Given the description of an element on the screen output the (x, y) to click on. 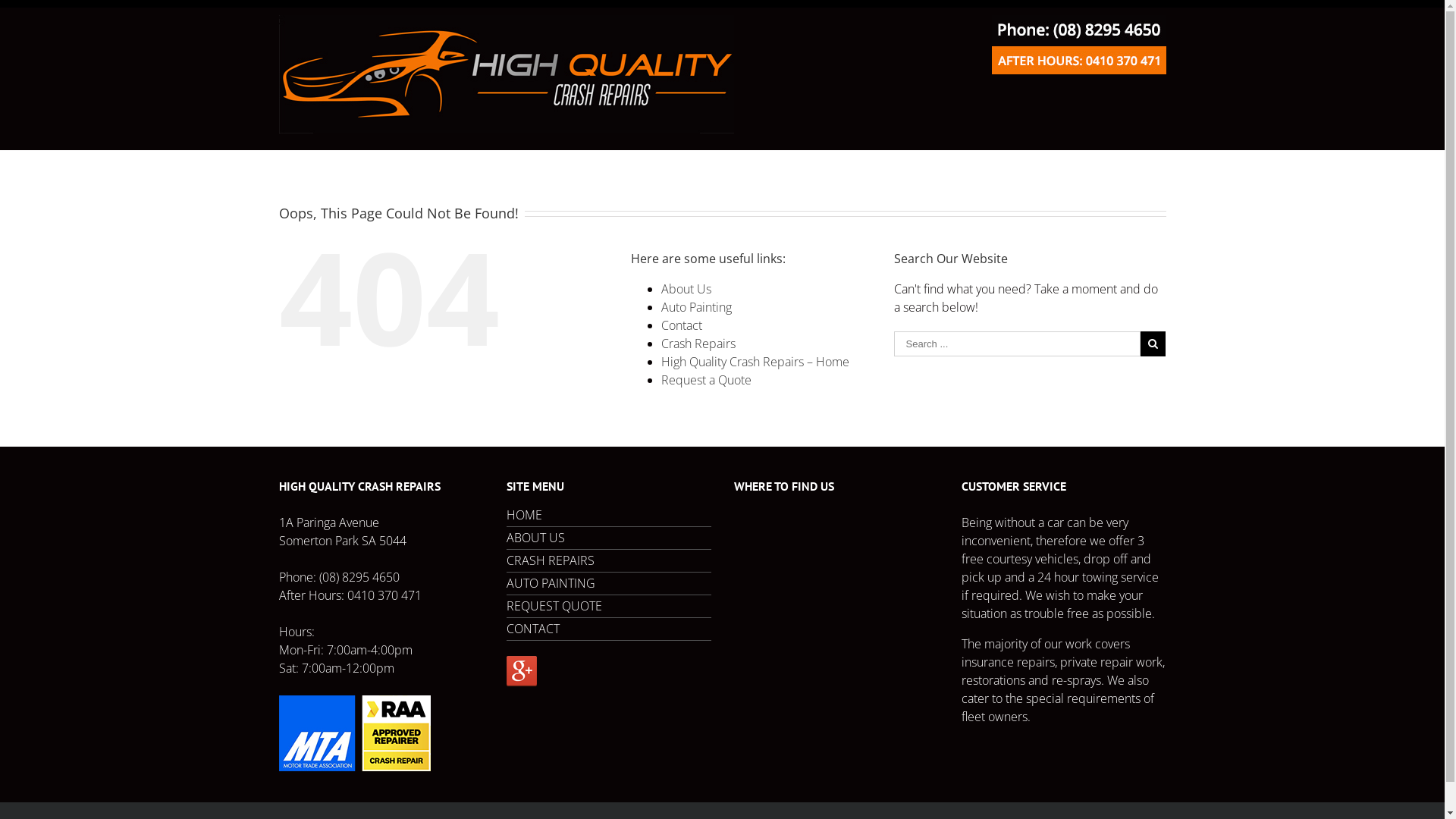
Crash Repairs Element type: text (698, 343)
Auto Painting Element type: text (696, 306)
REQUEST QUOTE Element type: text (608, 606)
Request a Quote Element type: text (706, 379)
0410 370 471 Element type: text (384, 594)
AUTO PAINTING Element type: text (608, 583)
HOME Element type: text (608, 520)
About Us Element type: text (686, 288)
CONTACT Element type: text (608, 629)
CRASH REPAIRS Element type: text (608, 560)
Contact Element type: text (681, 324)
(08) 8295 4650 Element type: text (358, 576)
ABOUT US Element type: text (608, 538)
